Given the description of an element on the screen output the (x, y) to click on. 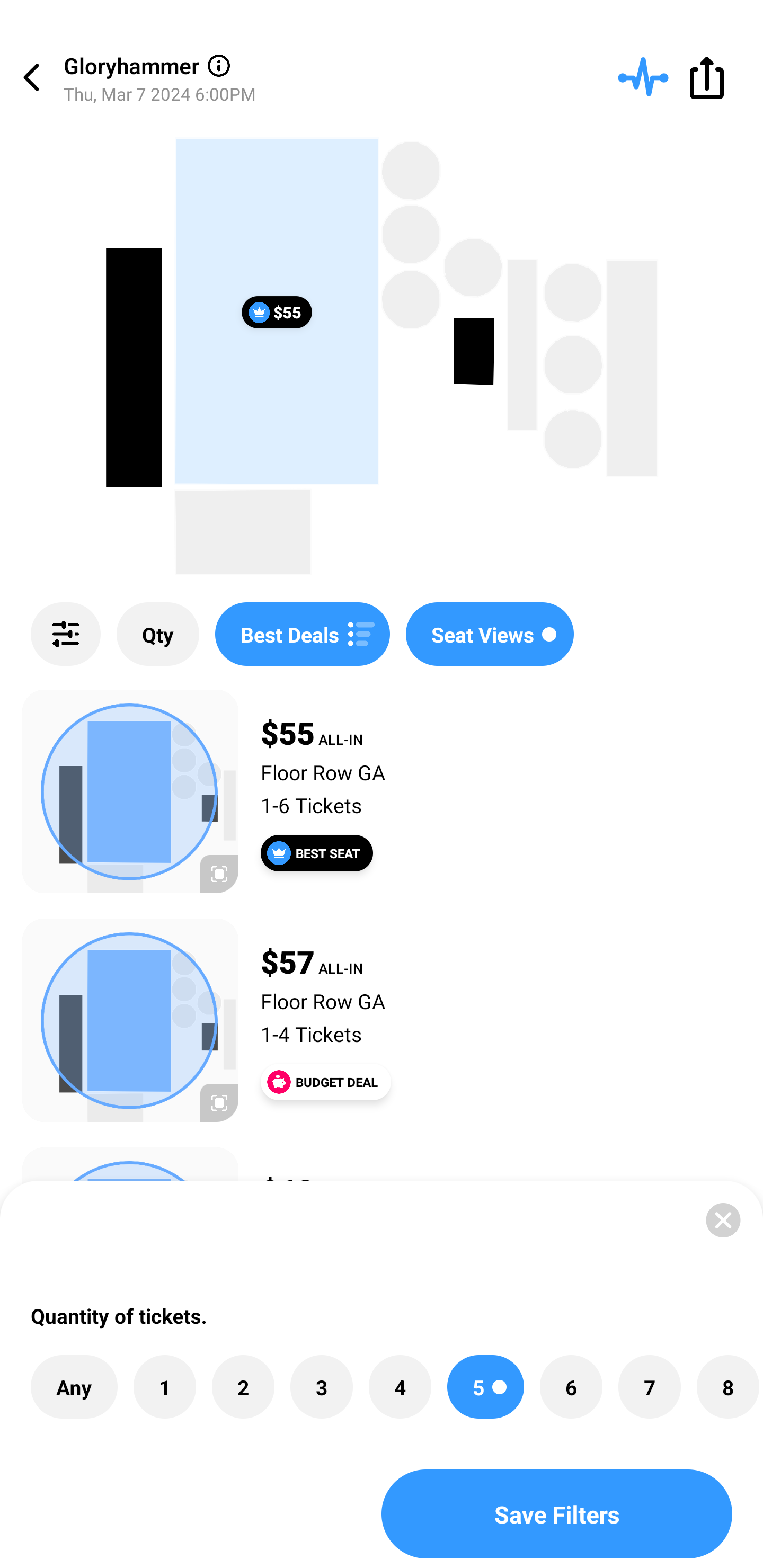
Any (73, 1386)
1 (164, 1386)
2 (243, 1386)
3 (321, 1386)
4 (399, 1386)
5 (485, 1386)
6 (571, 1386)
7 (649, 1386)
8 (727, 1386)
Save Filters (556, 1513)
